Given the description of an element on the screen output the (x, y) to click on. 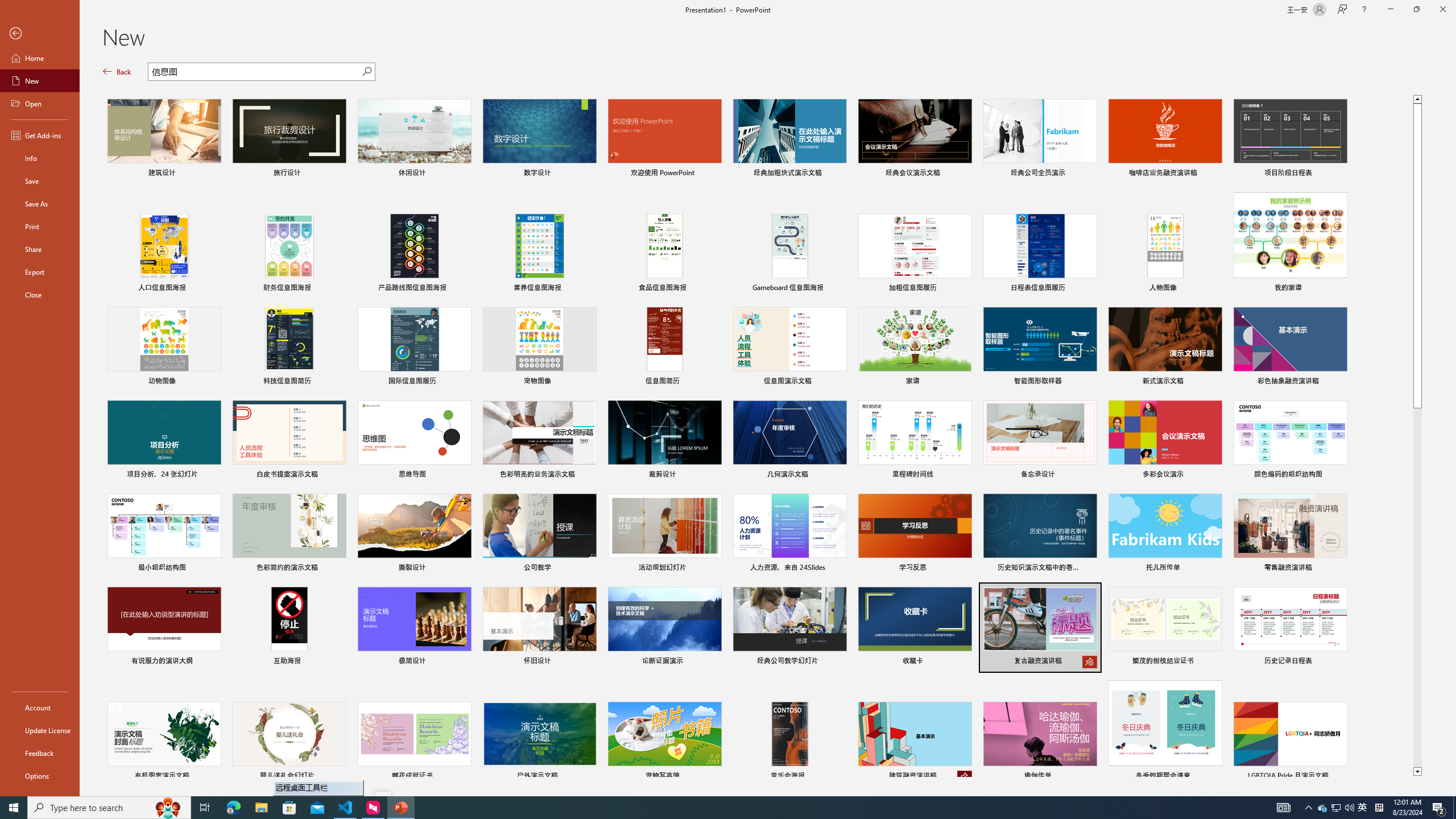
Account (40, 707)
Unpin from list (964, 776)
Options (40, 775)
Save As (40, 203)
